Given the description of an element on the screen output the (x, y) to click on. 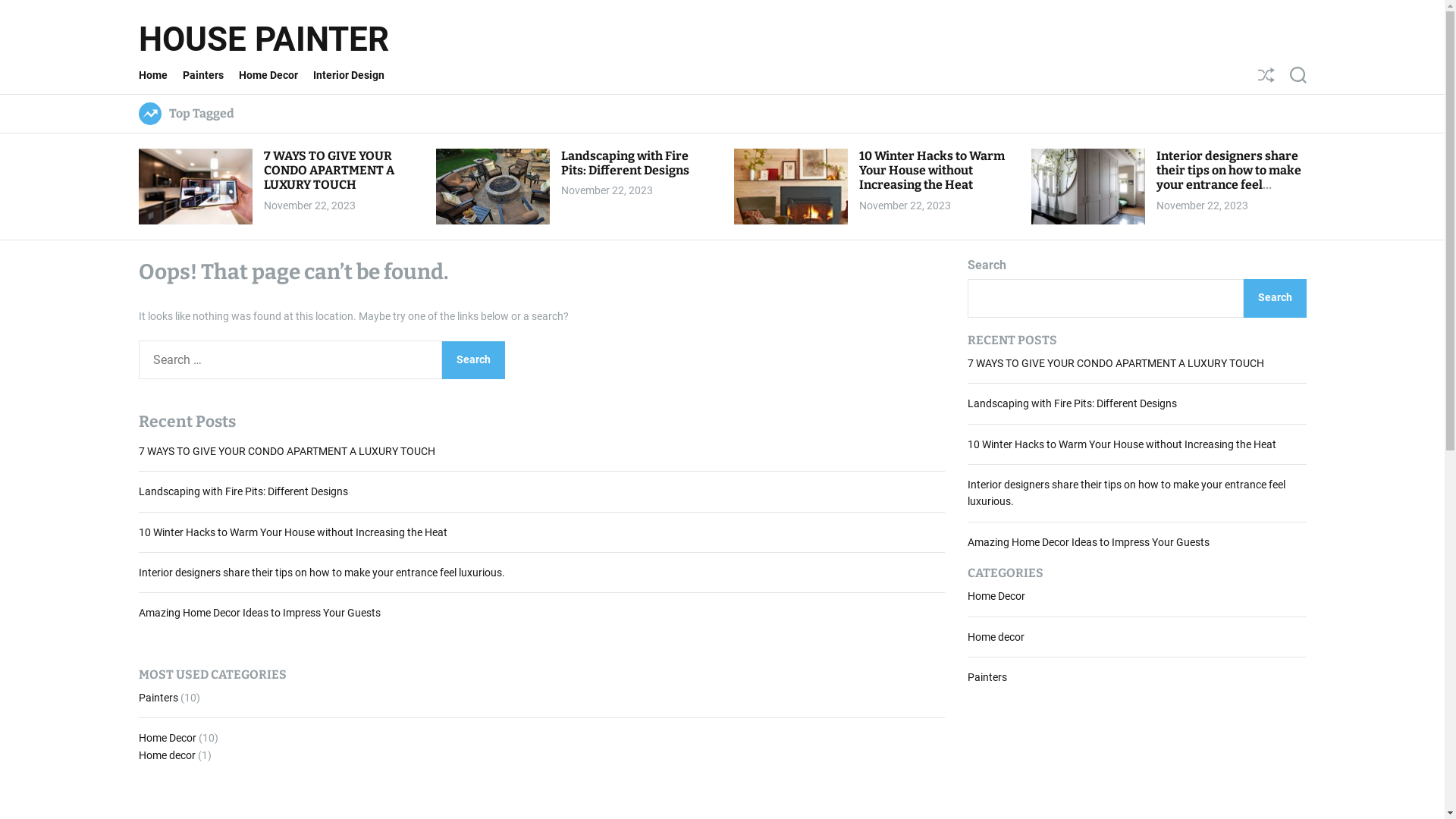
7 WAYS TO GIVE YOUR CONDO APARTMENT A LUXURY TOUCH Element type: text (1115, 363)
Home decor Element type: text (166, 755)
Painters Element type: text (157, 697)
HOUSE PAINTER Element type: text (263, 39)
Landscaping with Fire Pits: Different Designs Element type: text (1071, 403)
Amazing Home Decor Ideas to Impress Your Guests Element type: text (1088, 542)
Home decor Element type: text (995, 636)
Landscaping with Fire Pits: Different Designs Element type: text (242, 491)
Home Element type: text (160, 75)
Shuffle Element type: text (1265, 75)
Home Decor Element type: text (166, 737)
7 WAYS TO GIVE YOUR CONDO APARTMENT A LUXURY TOUCH Element type: text (328, 169)
Painters Element type: text (210, 75)
Painters Element type: text (987, 677)
Interior Design Element type: text (355, 75)
Home Decor Element type: text (275, 75)
Search Element type: text (472, 360)
Search Element type: text (1274, 298)
7 WAYS TO GIVE YOUR CONDO APARTMENT A LUXURY TOUCH Element type: text (286, 451)
Landscaping with Fire Pits: Different Designs Element type: text (625, 162)
Amazing Home Decor Ideas to Impress Your Guests Element type: text (258, 612)
Search Element type: text (1297, 75)
Home Decor Element type: text (996, 595)
